Given the description of an element on the screen output the (x, y) to click on. 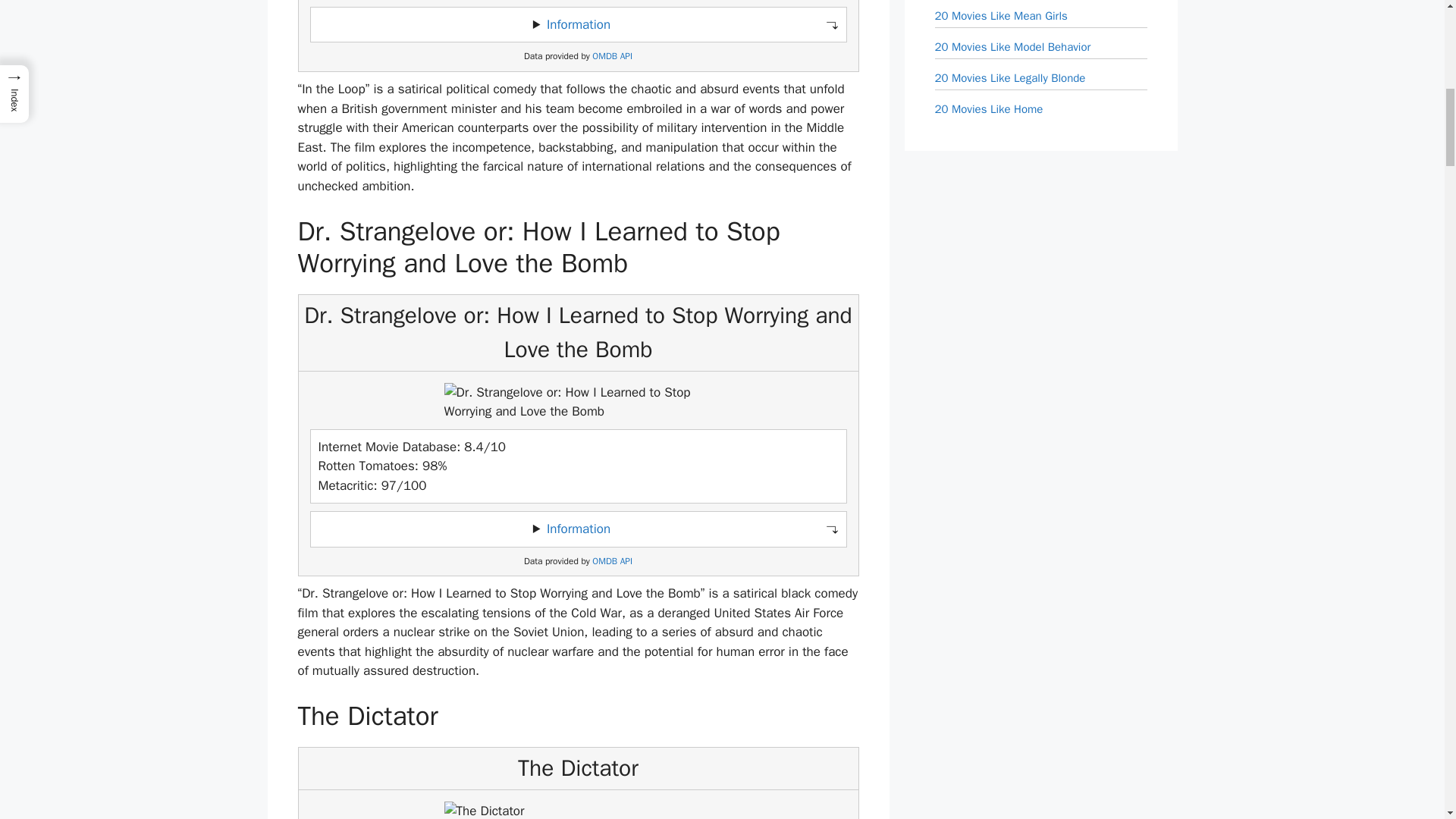
OMDB API (611, 56)
Open Movie Database API (611, 56)
Toggle information (578, 24)
Information (578, 24)
OMDB API (611, 560)
Toggle information (578, 529)
Information (578, 528)
Open Movie Database API (611, 560)
